Given the description of an element on the screen output the (x, y) to click on. 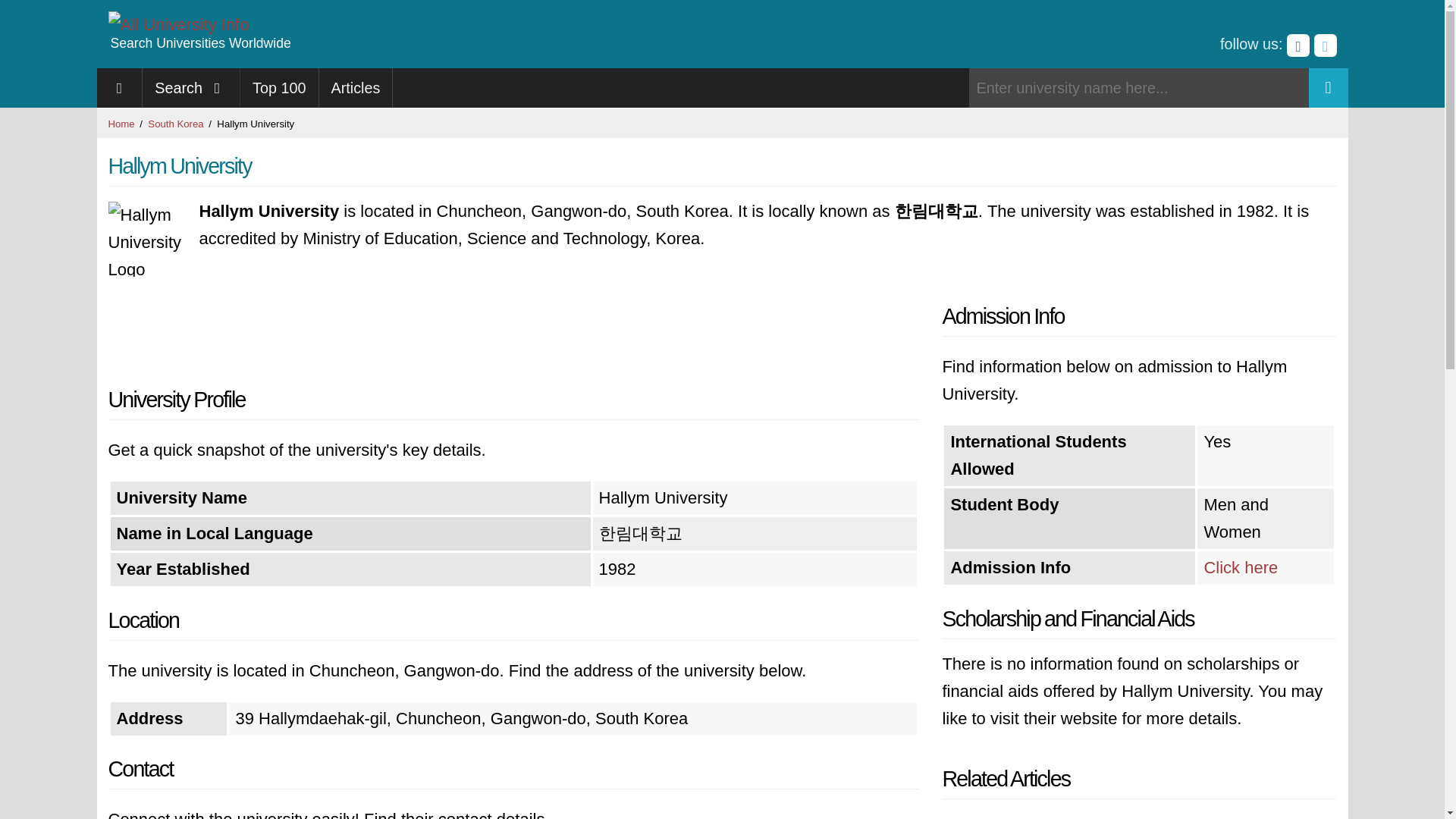
Twitter account of www.alluniversity.info (1324, 45)
Home (120, 123)
Hallym University Logo (145, 238)
South Korea (175, 123)
Click here (1241, 567)
Home (120, 123)
World's Top 100 Universities (279, 87)
Search University (1328, 87)
Home page (119, 87)
South Korea (175, 123)
alluniversity.info (177, 24)
Top 100 (279, 87)
Articles (355, 87)
Facebook page of www.alluniversity.info (1297, 45)
Search (191, 87)
